Given the description of an element on the screen output the (x, y) to click on. 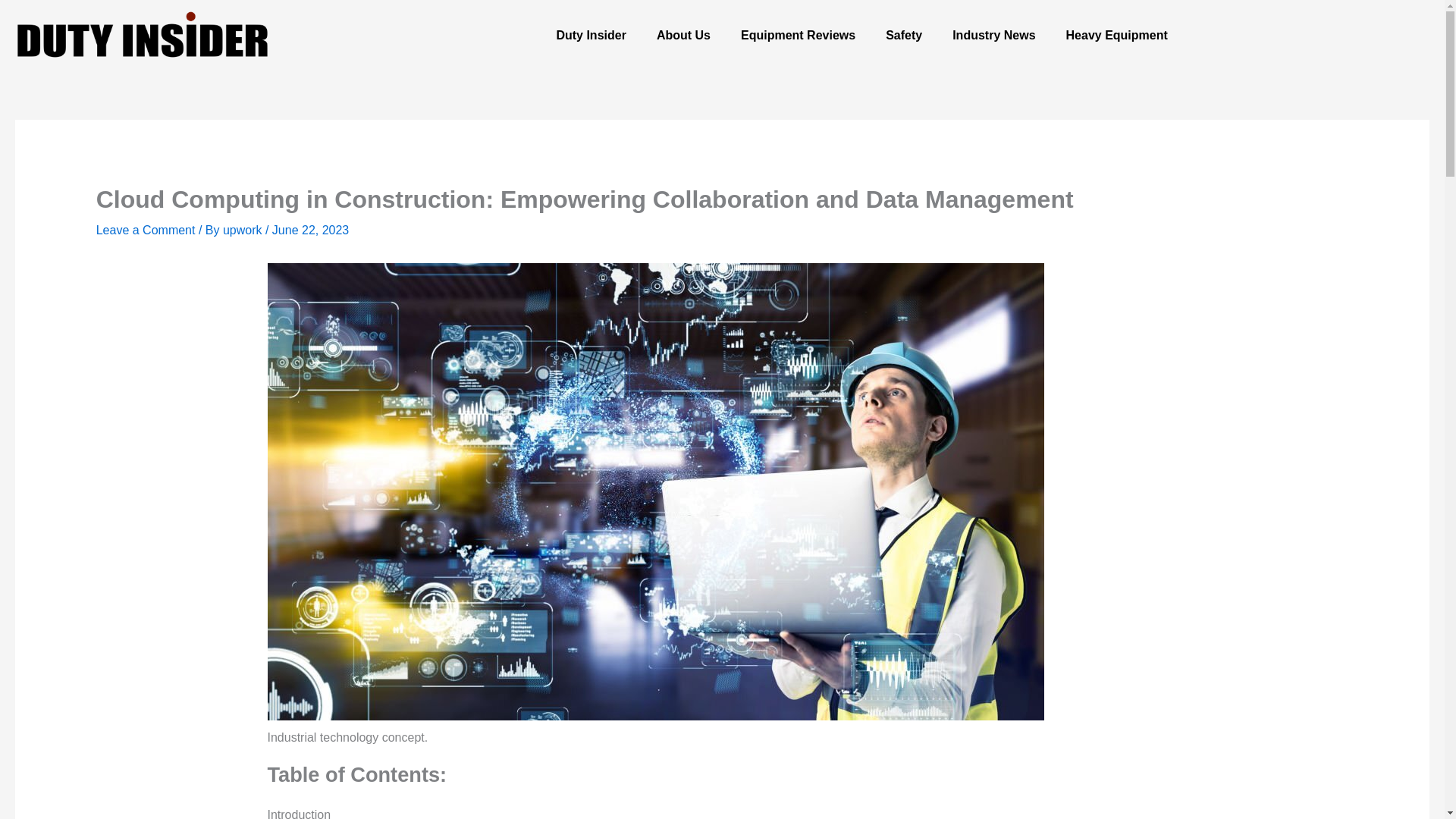
Industry News (993, 35)
View all posts by upwork (243, 229)
Equipment Reviews (797, 35)
upwork (243, 229)
Duty Insider (590, 35)
Safety (903, 35)
Heavy Equipment (1116, 35)
Leave a Comment (145, 229)
About Us (683, 35)
